Given the description of an element on the screen output the (x, y) to click on. 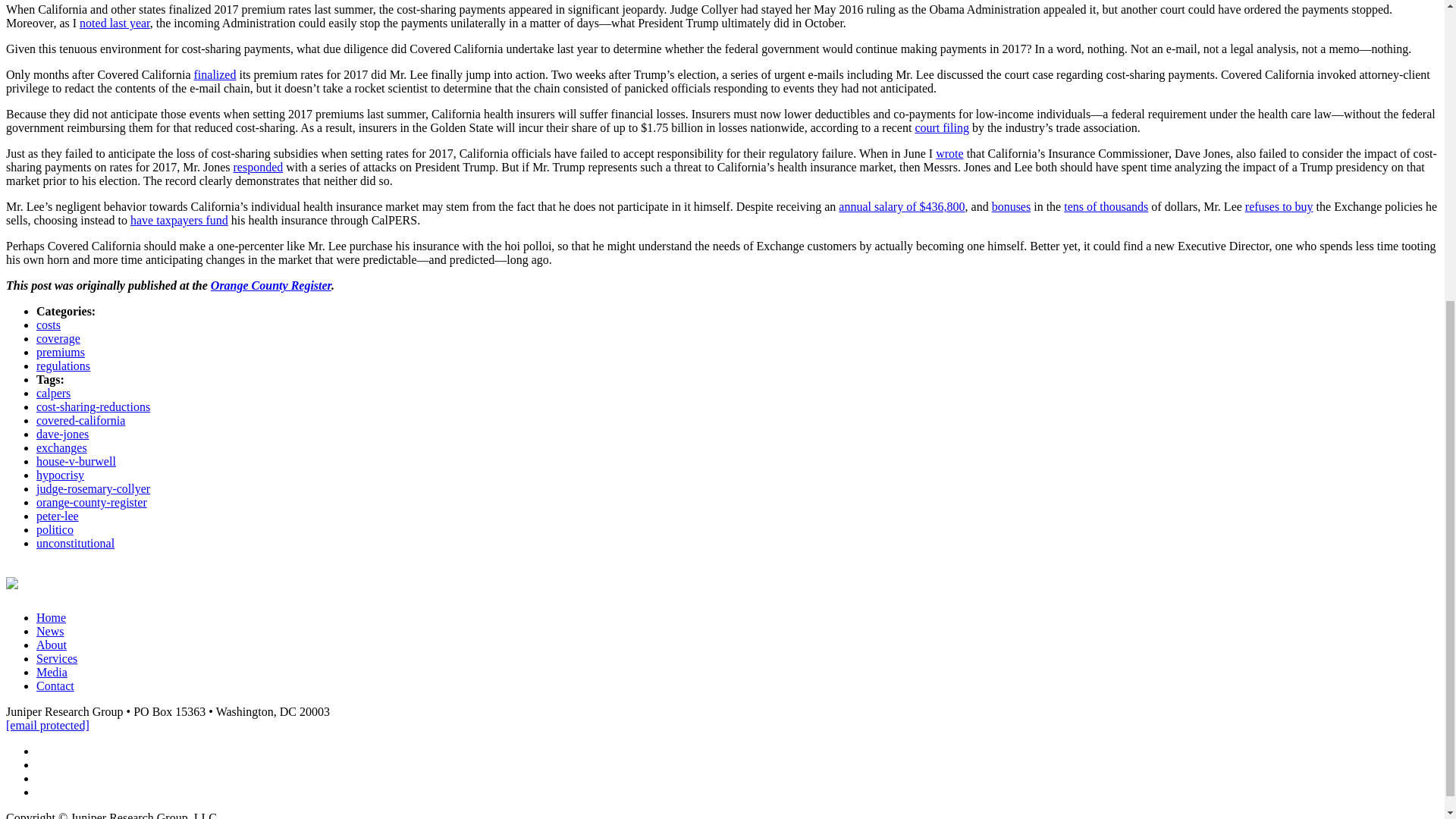
noted last year (114, 22)
cost-sharing-reductions (92, 406)
covered-california (80, 420)
refuses to buy (1278, 205)
calpers (52, 392)
premiums (60, 351)
court filing (941, 127)
coverage (58, 338)
responded (257, 166)
bonuses (1010, 205)
